Given the description of an element on the screen output the (x, y) to click on. 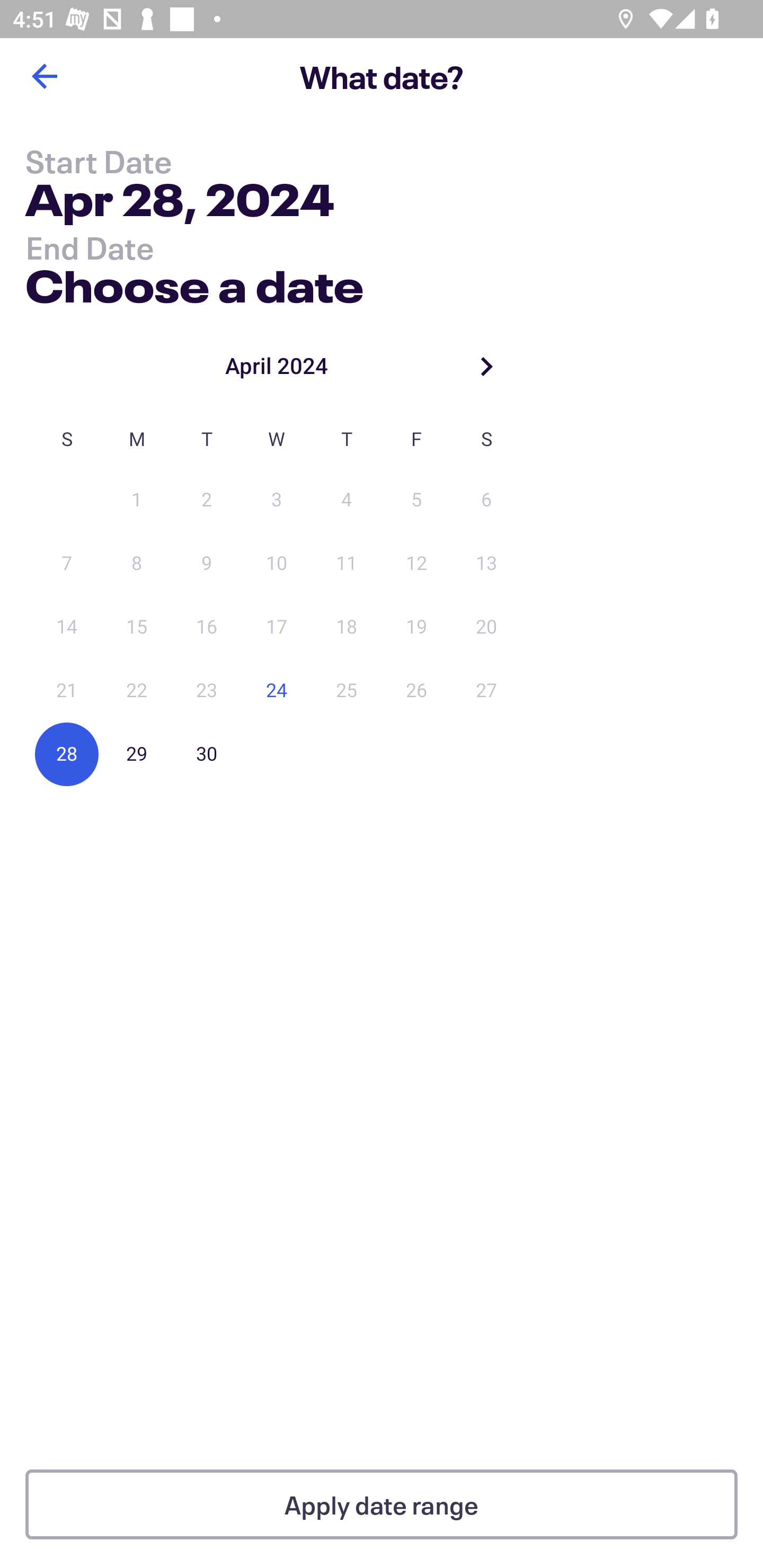
Back button (44, 75)
Apr 28, 2024 (179, 203)
Choose a date (194, 282)
Next month (486, 365)
1 01 April 2024 (136, 499)
2 02 April 2024 (206, 499)
3 03 April 2024 (276, 499)
4 04 April 2024 (346, 499)
5 05 April 2024 (416, 499)
6 06 April 2024 (486, 499)
7 07 April 2024 (66, 563)
8 08 April 2024 (136, 563)
9 09 April 2024 (206, 563)
10 10 April 2024 (276, 563)
11 11 April 2024 (346, 563)
12 12 April 2024 (416, 563)
13 13 April 2024 (486, 563)
14 14 April 2024 (66, 626)
15 15 April 2024 (136, 626)
16 16 April 2024 (206, 626)
17 17 April 2024 (276, 626)
18 18 April 2024 (346, 626)
19 19 April 2024 (416, 626)
20 20 April 2024 (486, 626)
21 21 April 2024 (66, 690)
22 22 April 2024 (136, 690)
23 23 April 2024 (206, 690)
24 24 April 2024 (276, 690)
25 25 April 2024 (346, 690)
26 26 April 2024 (416, 690)
27 27 April 2024 (486, 690)
28 28 April 2024 (66, 753)
29 29 April 2024 (136, 753)
30 30 April 2024 (206, 753)
Apply date range (381, 1504)
